Given the description of an element on the screen output the (x, y) to click on. 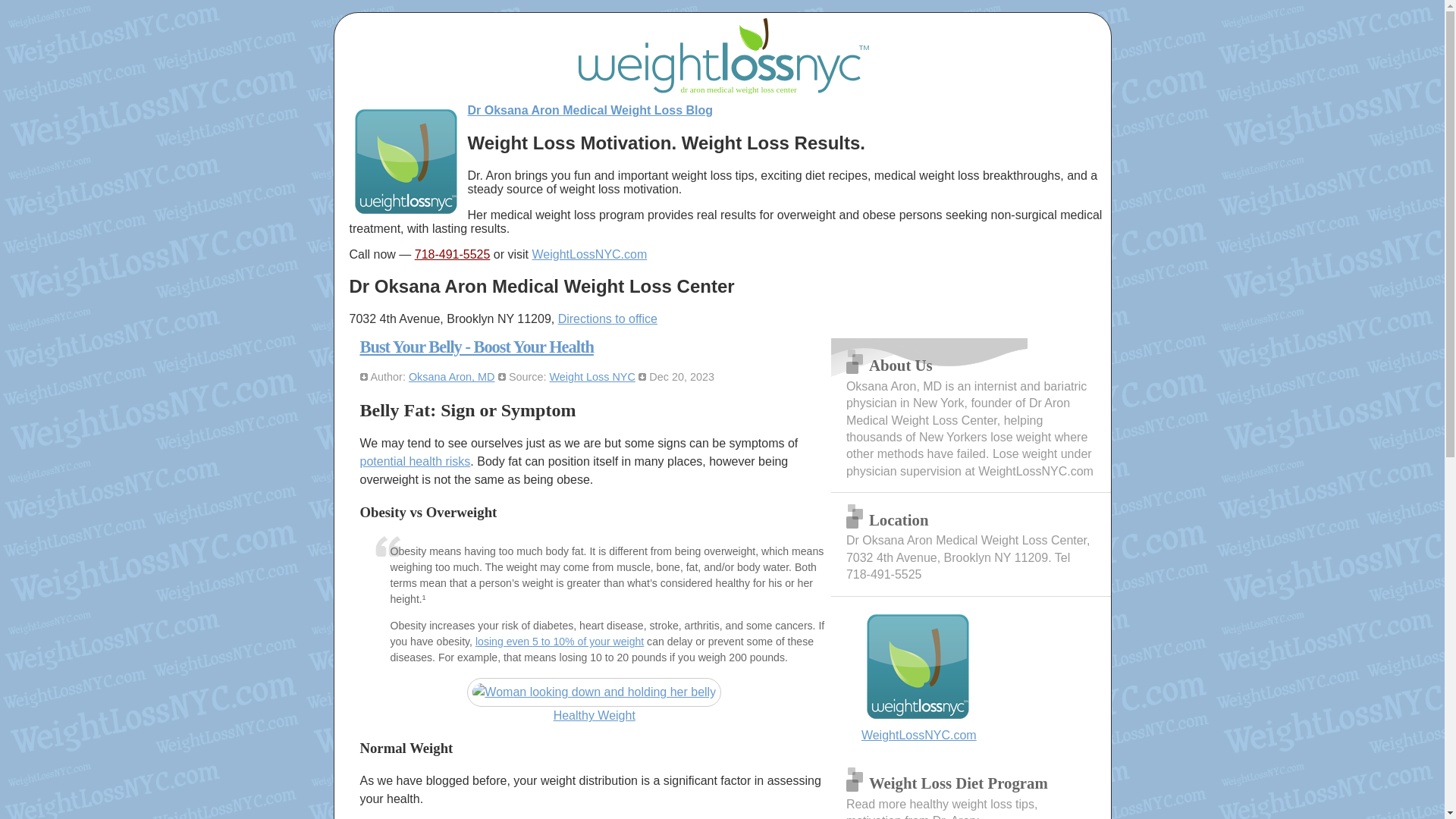
potential health risks (414, 461)
Oksana Aron, MD (452, 377)
Dr Oksana Aron Medical Weight Loss Center, Brooklyn NYC (589, 254)
Dr Oksana Aron Medical Weight Loss Center, Brooklyn NYC (970, 676)
Healthy Weight (593, 701)
Weight Loss NYC (592, 377)
Dr Oksana Aron Medical Weight Loss Blog (590, 110)
WeightLossNYC.com (970, 676)
Bust Your Belly - Boost Your Health (475, 346)
Dr Oksana Aron Medical Weight Loss Center, Brooklyn NYC (406, 213)
